Given the description of an element on the screen output the (x, y) to click on. 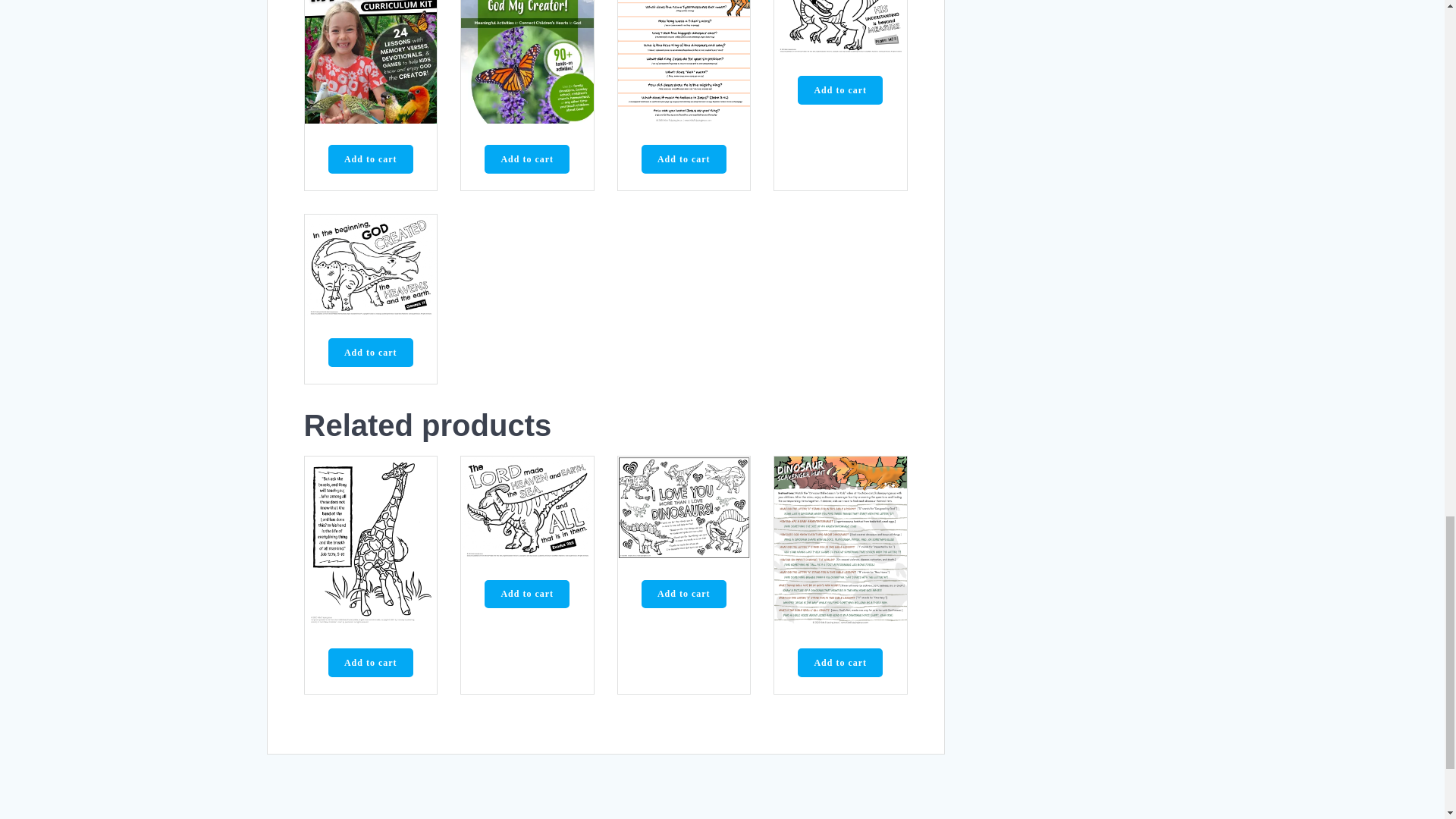
Add to cart (371, 158)
Add to cart (526, 158)
